Given the description of an element on the screen output the (x, y) to click on. 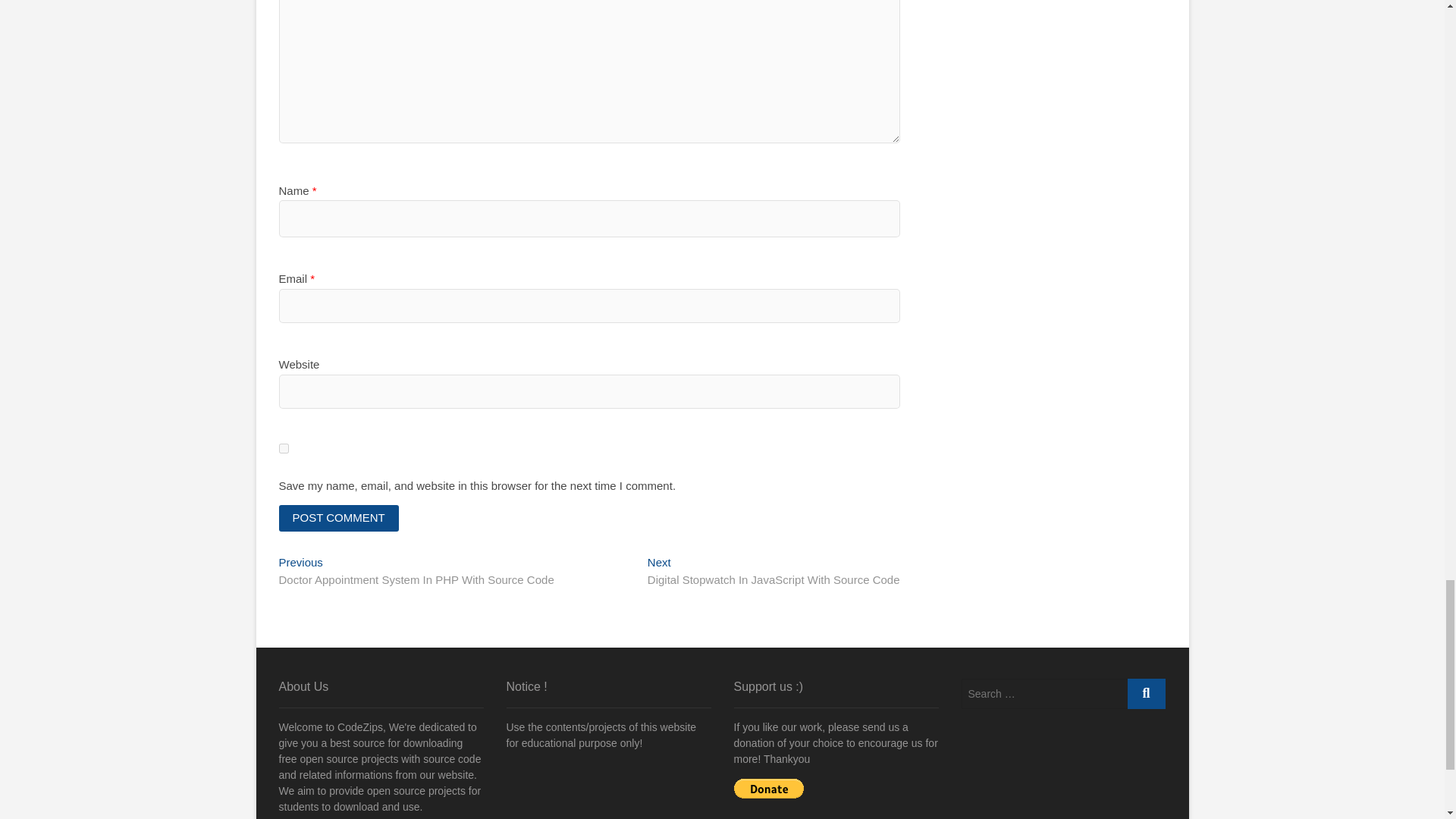
Post Comment (338, 518)
Post Comment (338, 518)
yes (283, 448)
